Given the description of an element on the screen output the (x, y) to click on. 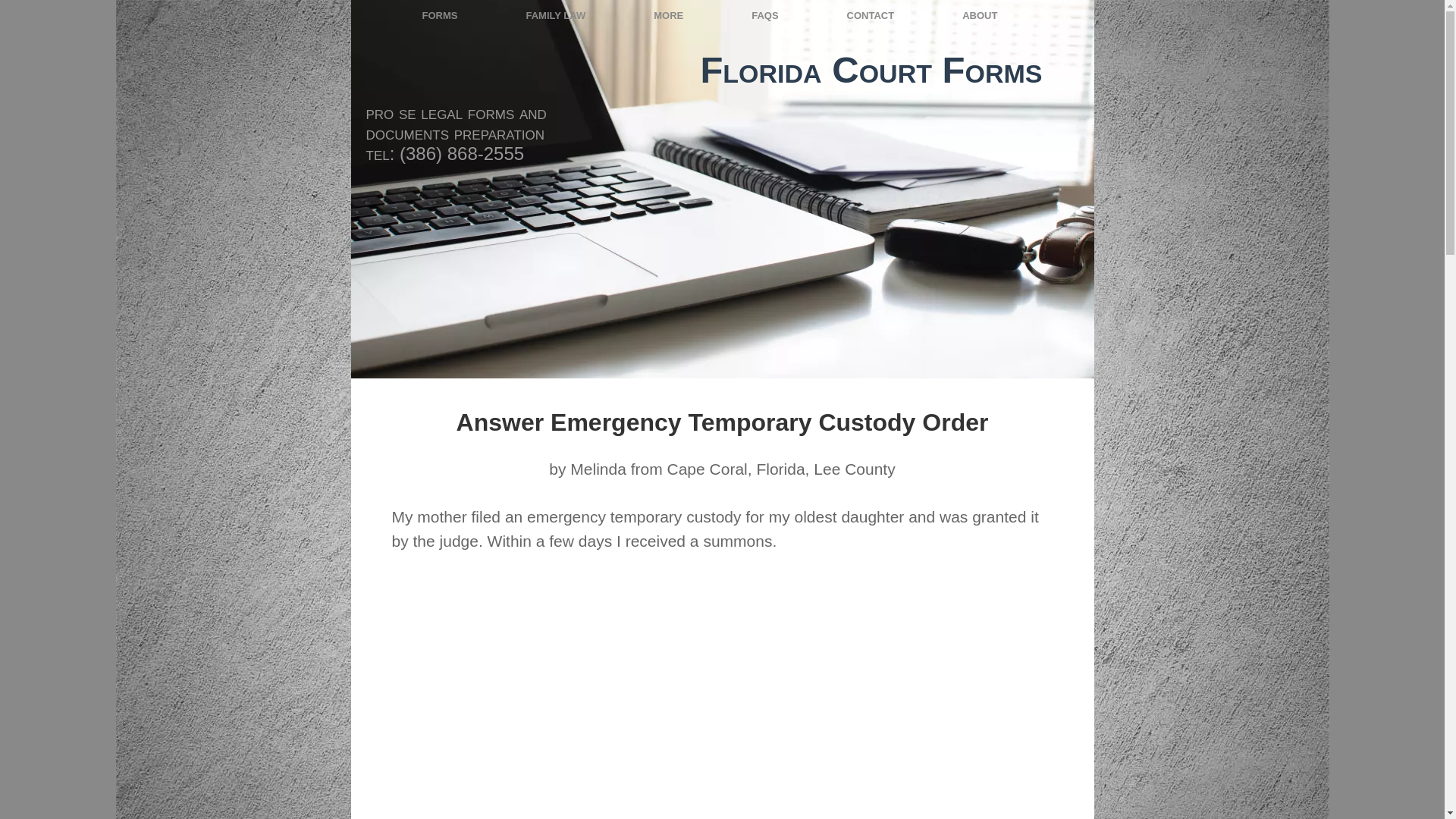
Florida Court Forms (871, 69)
Advertisement (721, 706)
